Given the description of an element on the screen output the (x, y) to click on. 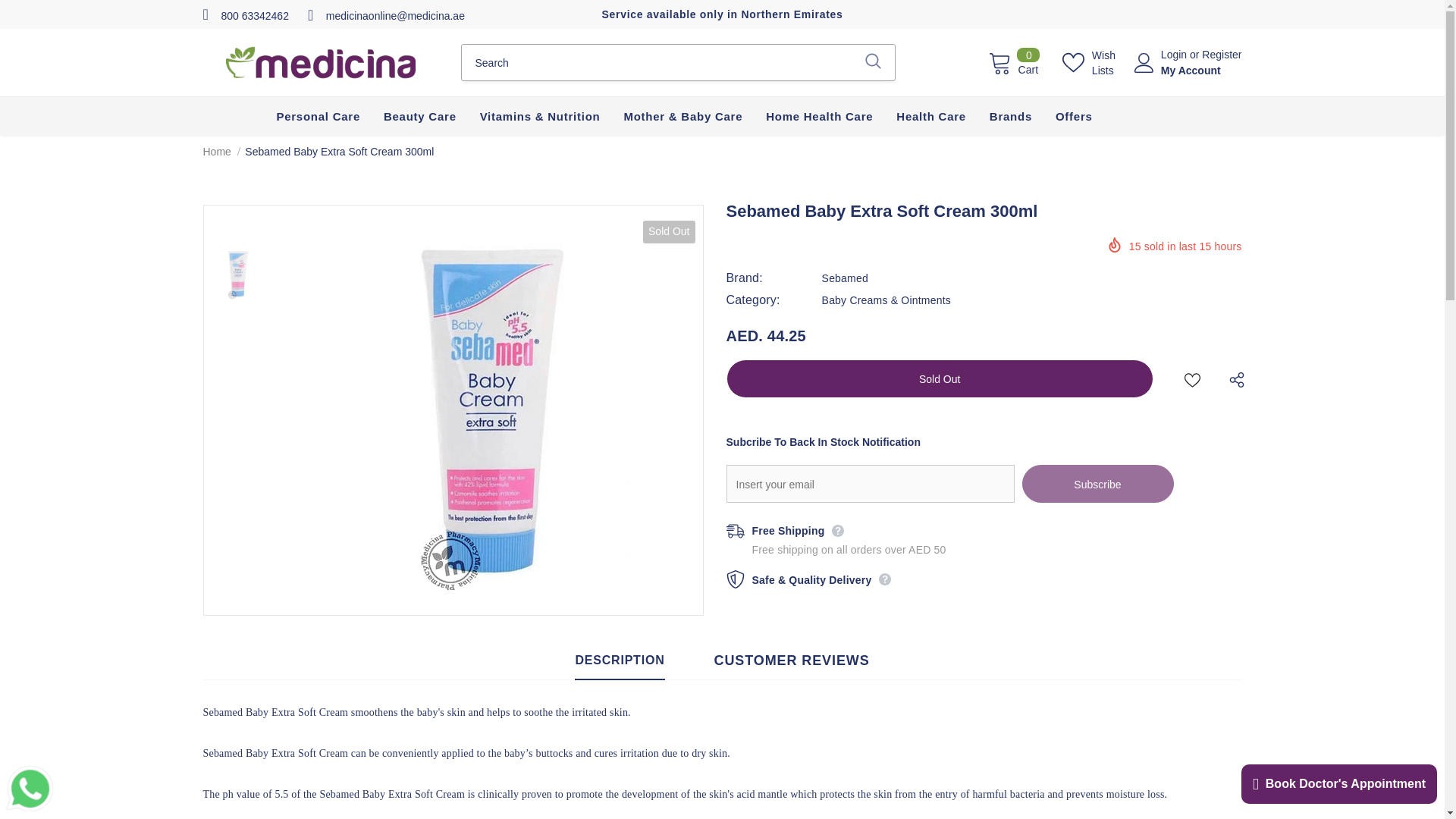
Home Health Care (818, 116)
Subscribe (1097, 483)
Logo (320, 61)
Sold Out (939, 378)
Login (1174, 54)
Register (1221, 54)
Wish Lists (1090, 61)
My Account (1190, 69)
Health Care (1013, 61)
